Given the description of an element on the screen output the (x, y) to click on. 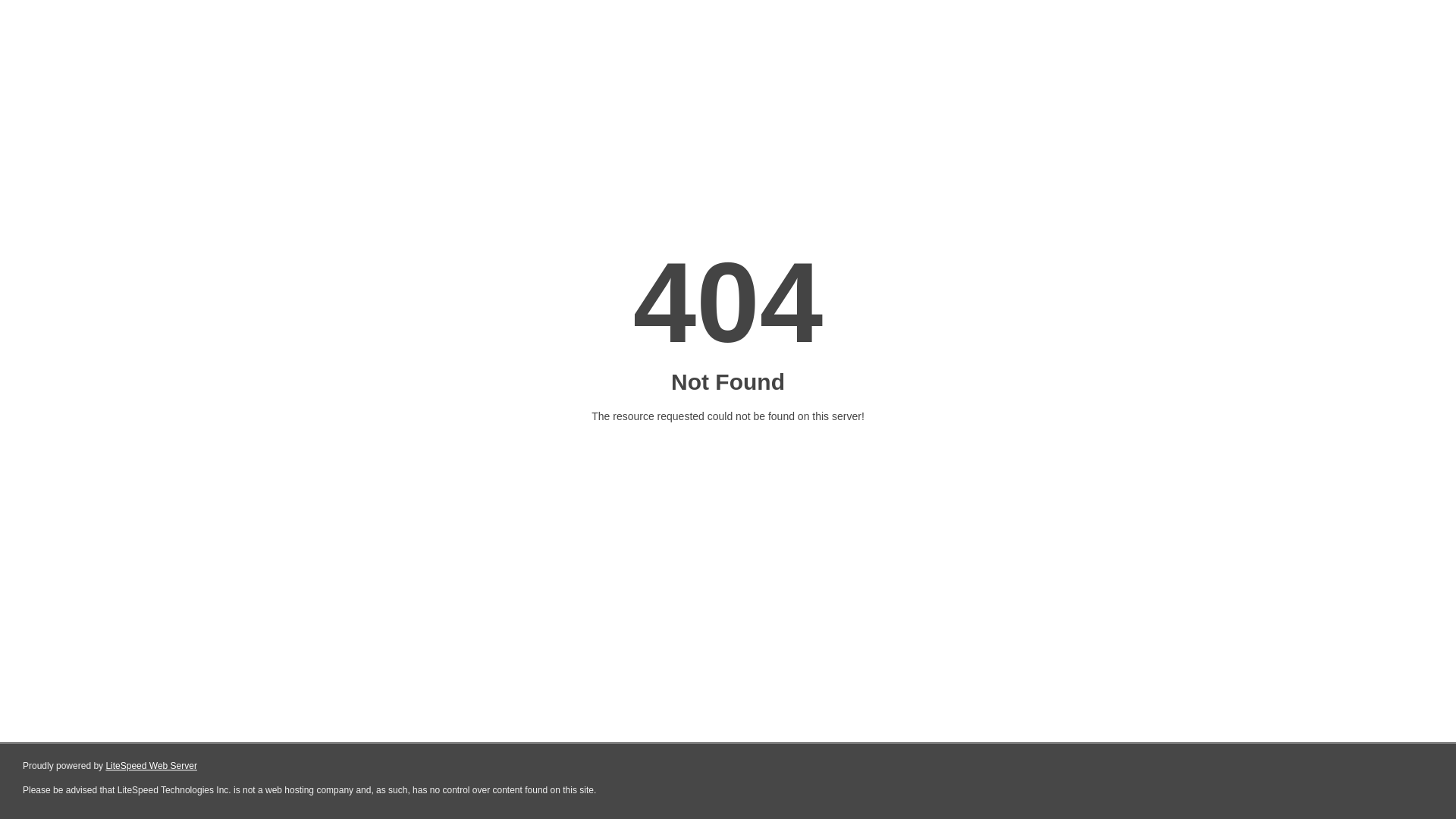
LiteSpeed Web Server Element type: text (151, 765)
